Given the description of an element on the screen output the (x, y) to click on. 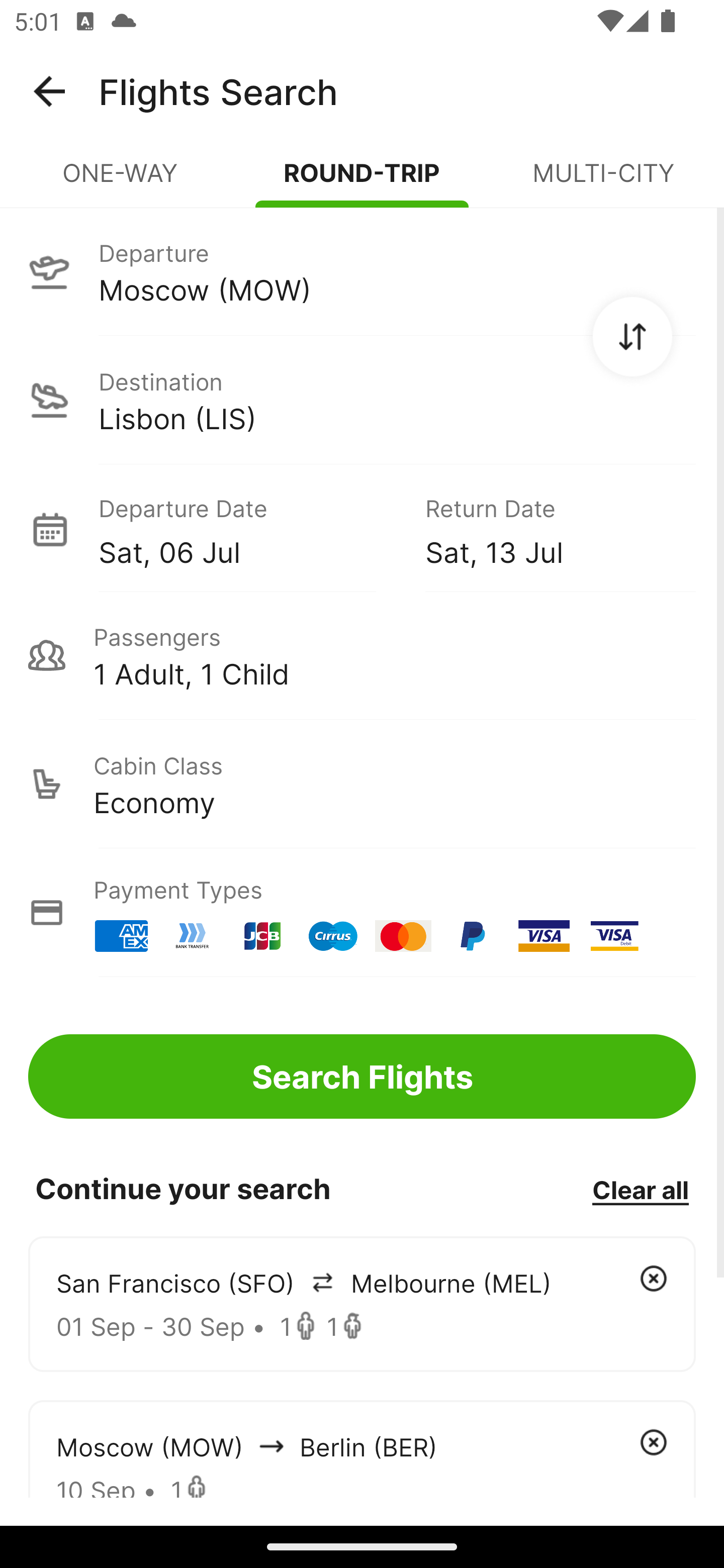
ONE-WAY (120, 180)
ROUND-TRIP (361, 180)
MULTI-CITY (603, 180)
Departure Moscow (MOW) (362, 270)
Destination Lisbon (LIS) (362, 400)
Departure Date Sat, 06 Jul (247, 528)
Return Date Sat, 13 Jul (546, 528)
Passengers 1 Adult, 1 Child (362, 655)
Cabin Class Economy (362, 783)
Payment Types (362, 912)
Search Flights (361, 1075)
Clear all (640, 1189)
Moscow (MOW)  arrowIcon  Berlin (BER) 10 Sep •  1  (361, 1448)
